Given the description of an element on the screen output the (x, y) to click on. 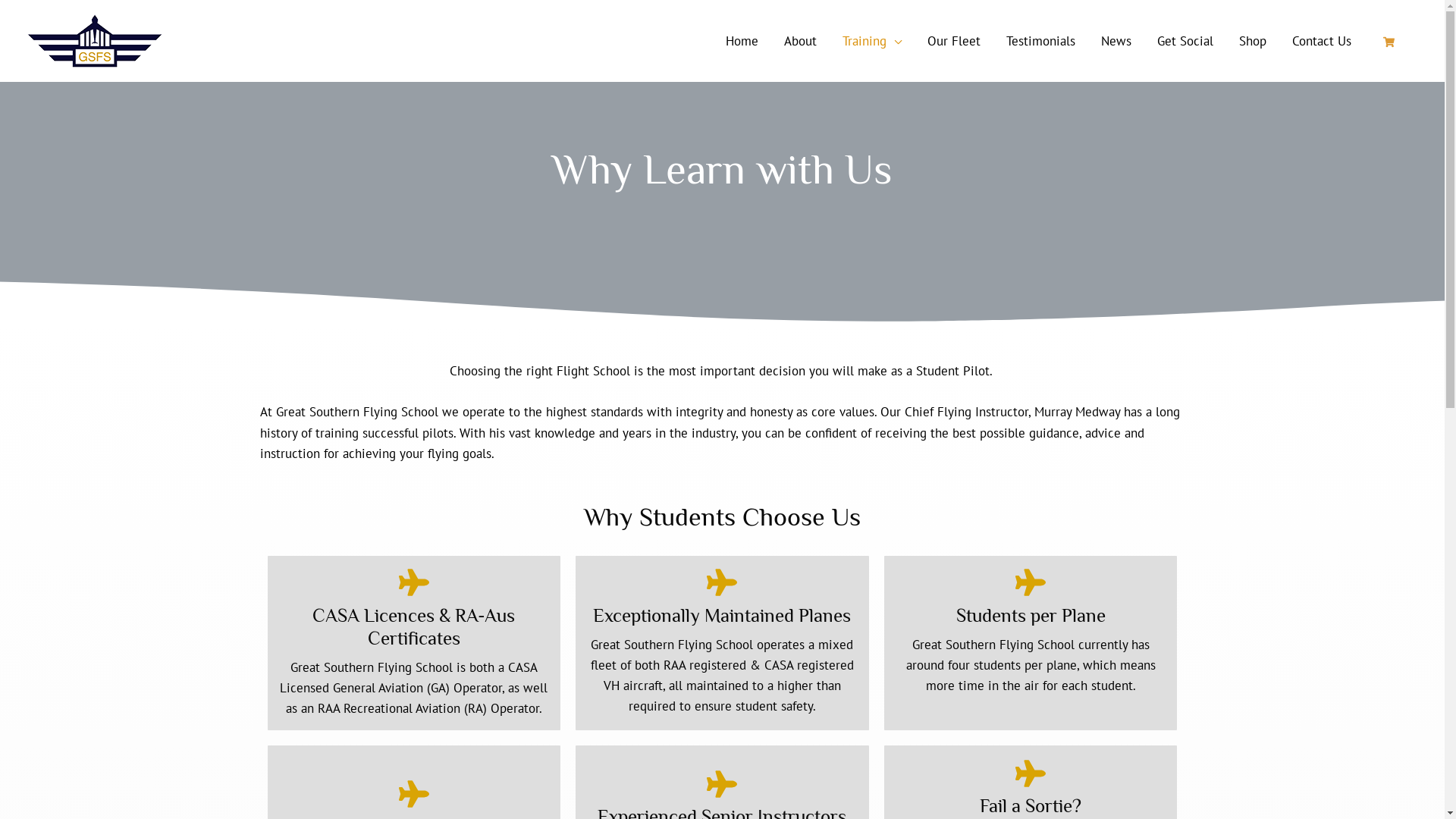
Home Element type: text (741, 40)
Our Fleet Element type: text (953, 40)
News Element type: text (1115, 40)
Training Element type: text (871, 40)
Testimonials Element type: text (1040, 40)
Contact Us Element type: text (1320, 40)
Get Social Element type: text (1184, 40)
About Element type: text (799, 40)
Shop Element type: text (1251, 40)
